Given the description of an element on the screen output the (x, y) to click on. 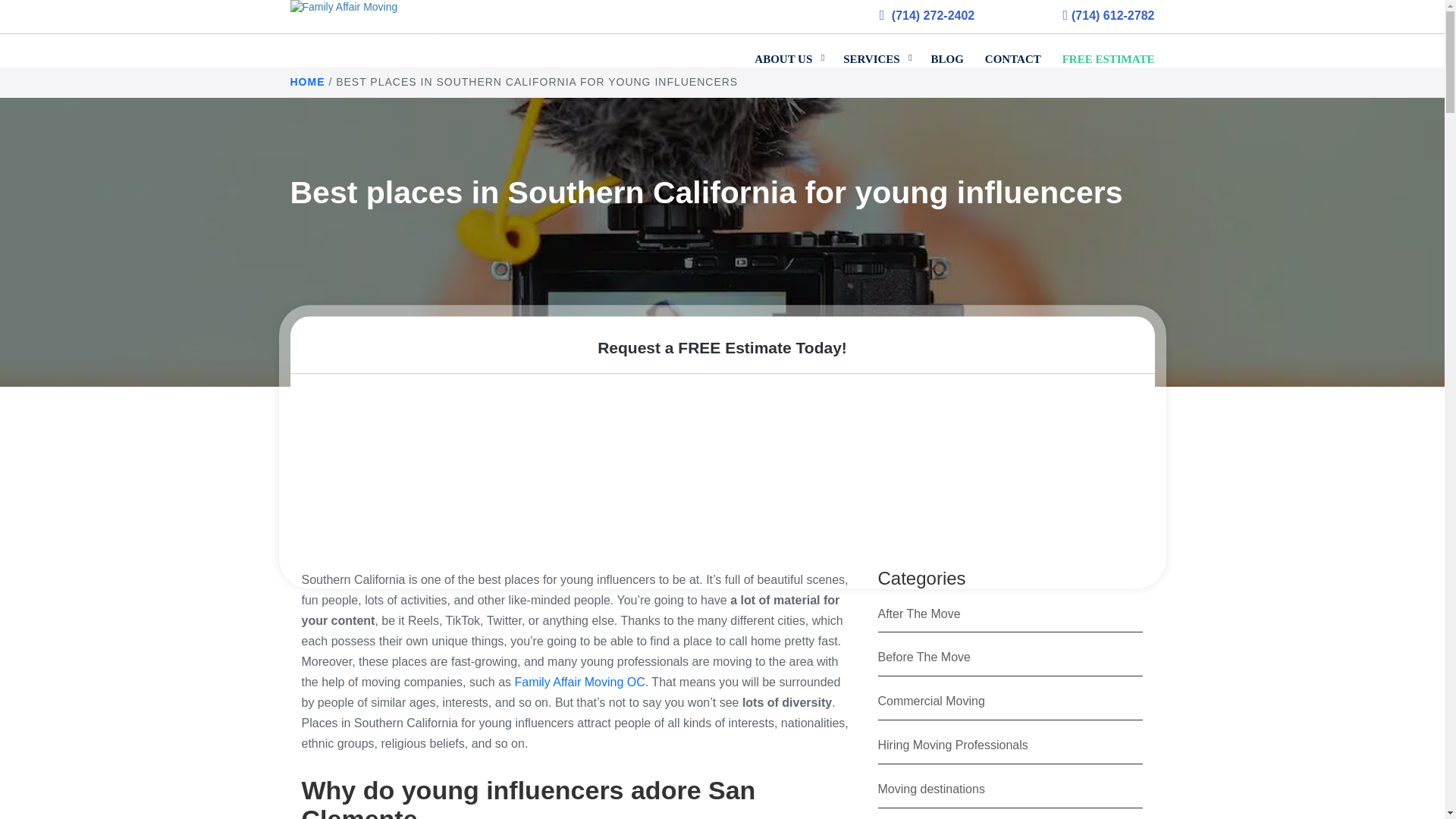
After The Move (918, 613)
SERVICES (876, 51)
CONTACT (1012, 51)
BLOG (946, 51)
Submit (1011, 544)
Family Affair Moving OC (580, 681)
Before The Move (924, 656)
FREE ESTIMATE (1103, 51)
ABOUT US (788, 51)
HOME (306, 81)
Commercial Moving (931, 700)
Hiring Moving Professionals (952, 744)
